Given the description of an element on the screen output the (x, y) to click on. 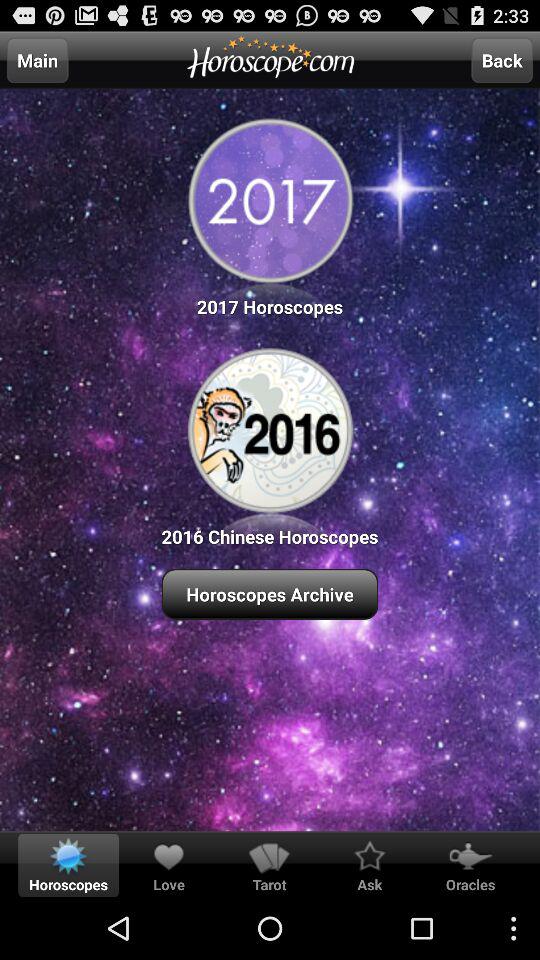
scroll to horoscopes archive icon (269, 593)
